Given the description of an element on the screen output the (x, y) to click on. 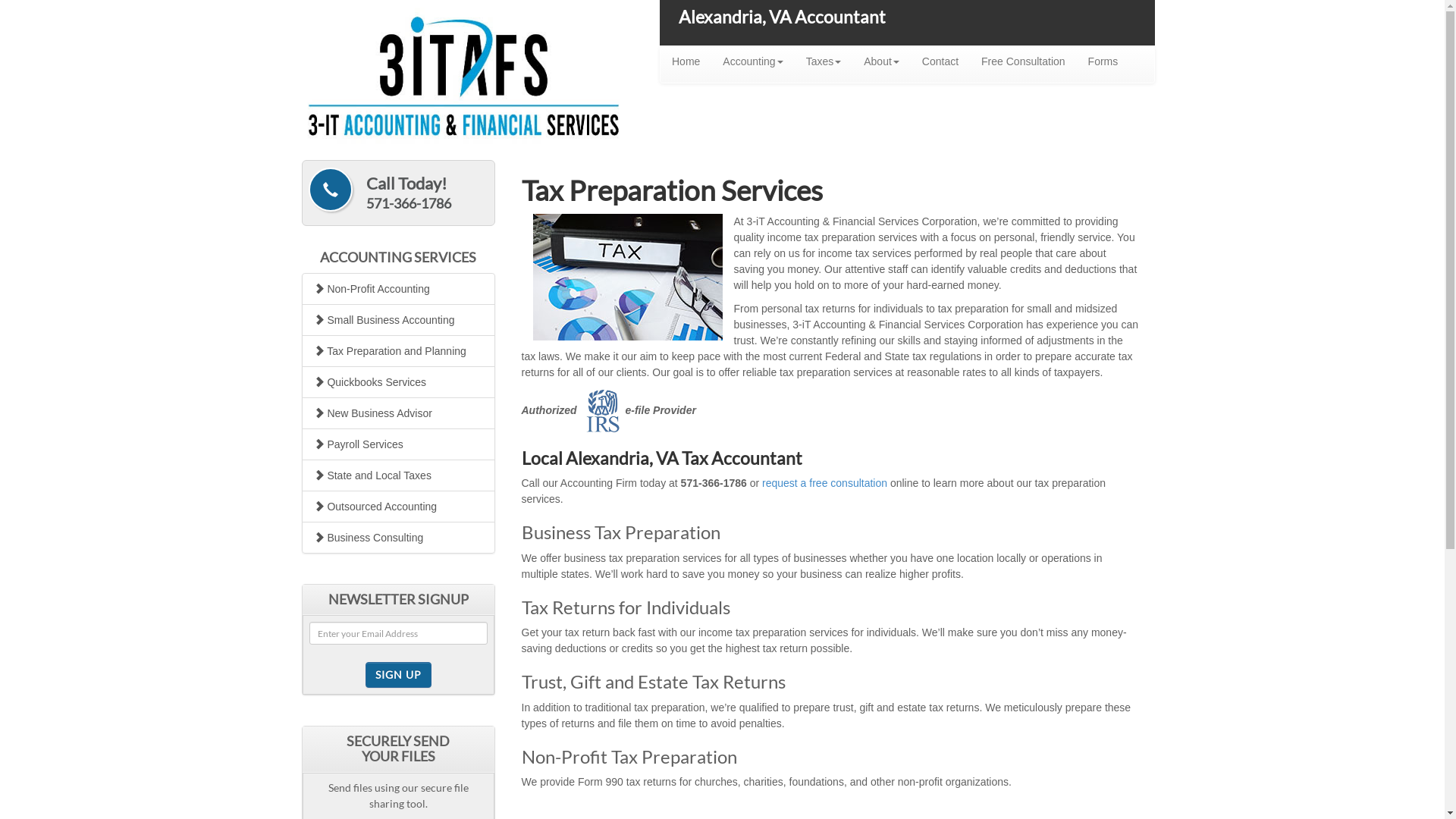
request a free consultation Element type: text (824, 482)
Business Consulting Element type: text (398, 537)
Small Business Accounting Element type: text (398, 319)
Tax Preparation and Planning Element type: text (398, 351)
Free Consultation Element type: text (1022, 61)
Accounting Element type: text (752, 61)
Contact Element type: text (939, 61)
About Element type: text (881, 61)
State and Local Taxes Element type: text (398, 475)
Home Element type: text (685, 61)
Quickbooks Services Element type: text (398, 382)
New Business Advisor Element type: text (398, 413)
Forms Element type: text (1102, 61)
Taxes Element type: text (823, 61)
Outsourced Accounting Element type: text (398, 506)
 Non-Profit Accounting Element type: text (398, 288)
SIGN UP Element type: text (398, 674)
Payroll Services Element type: text (398, 444)
